Given the description of an element on the screen output the (x, y) to click on. 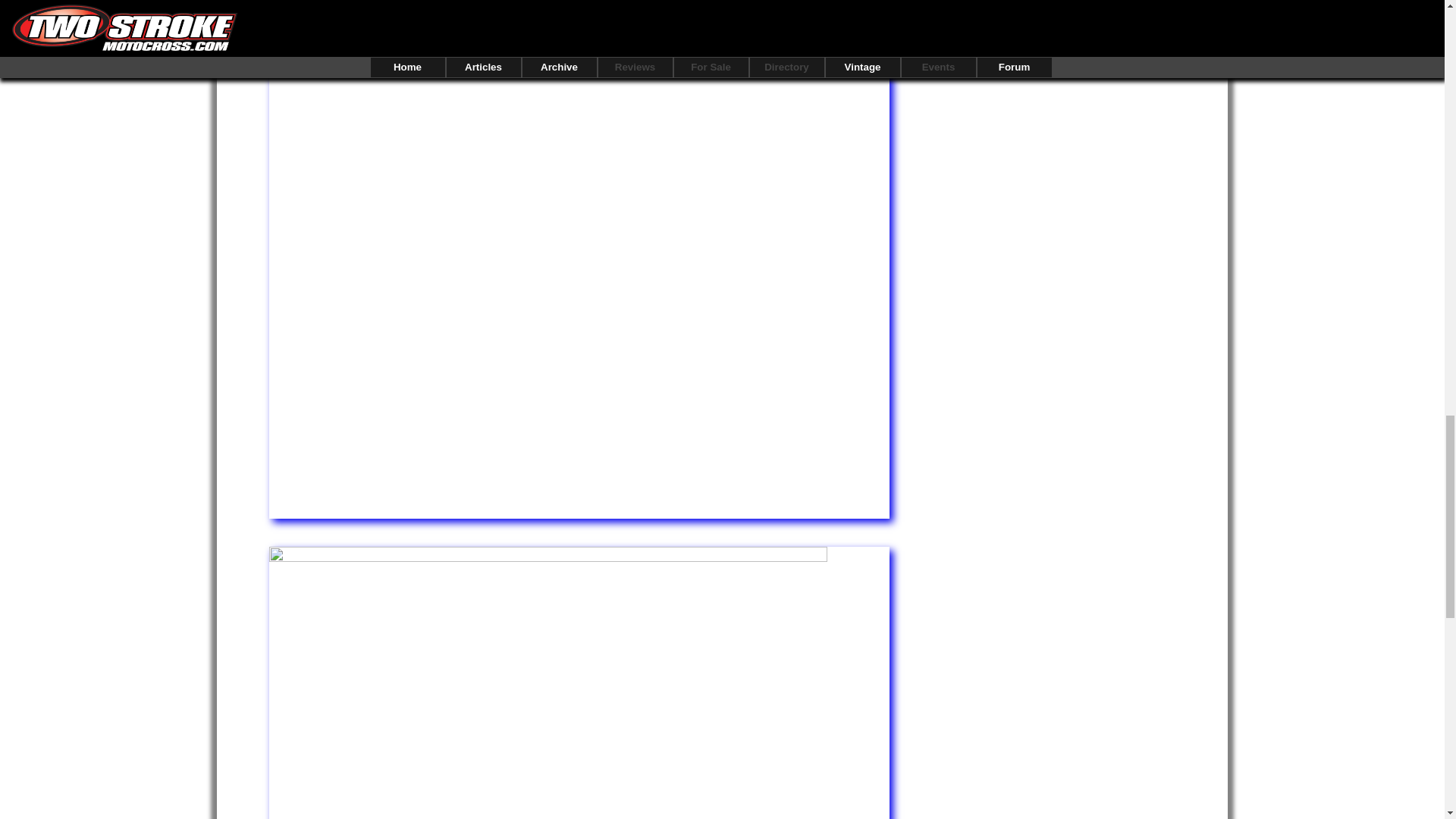
Supermoto - EXC - 2 (579, 12)
